Given the description of an element on the screen output the (x, y) to click on. 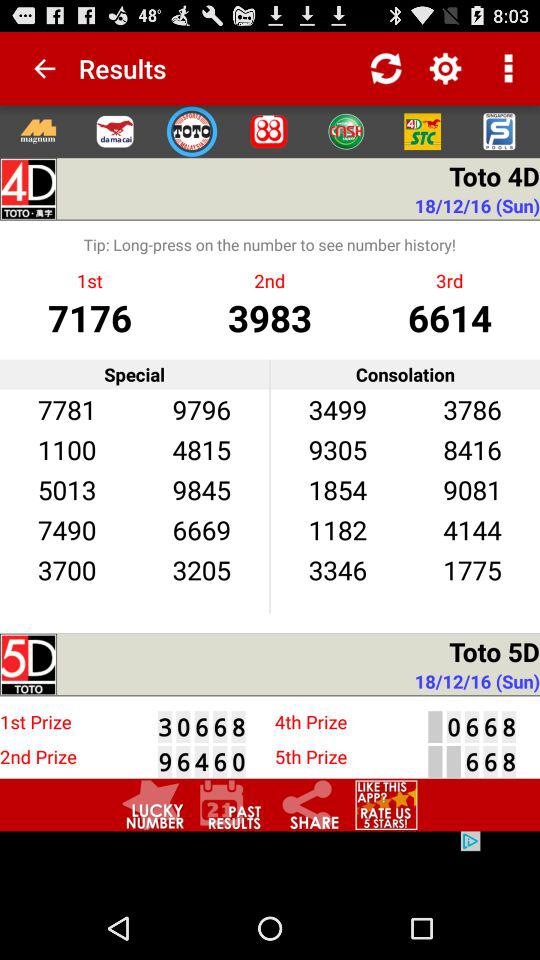
click item above the 3205 item (201, 529)
